Given the description of an element on the screen output the (x, y) to click on. 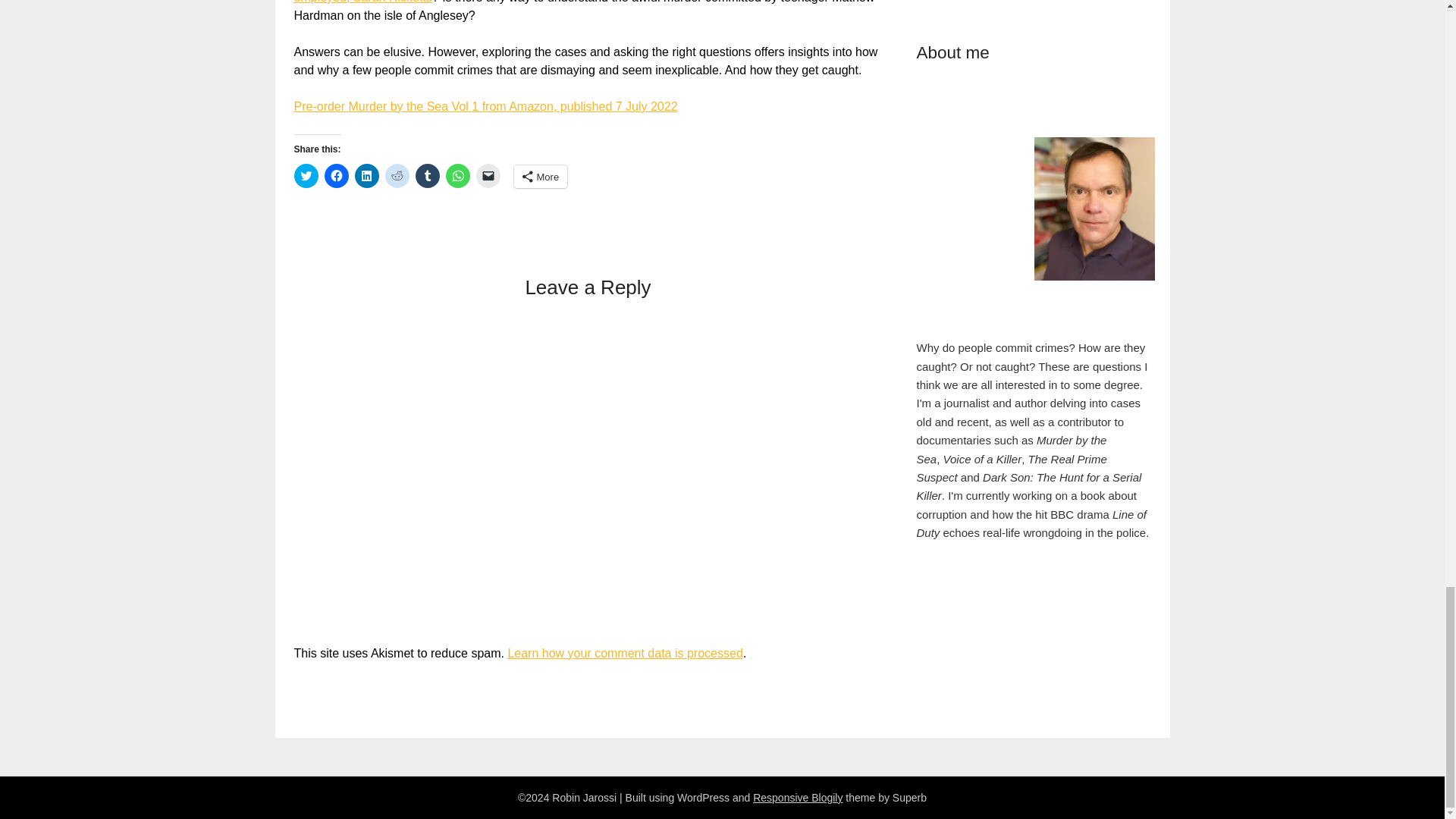
Click to share on Tumblr (426, 175)
Click to share on LinkedIn (366, 175)
Learn how your comment data is processed (624, 653)
More (540, 176)
Click to share on Facebook (336, 175)
Click to share on Reddit (397, 175)
Click to share on Twitter (306, 175)
Click to share on WhatsApp (457, 175)
Responsive Blogily (797, 797)
Click to email a link to a friend (488, 175)
